Given the description of an element on the screen output the (x, y) to click on. 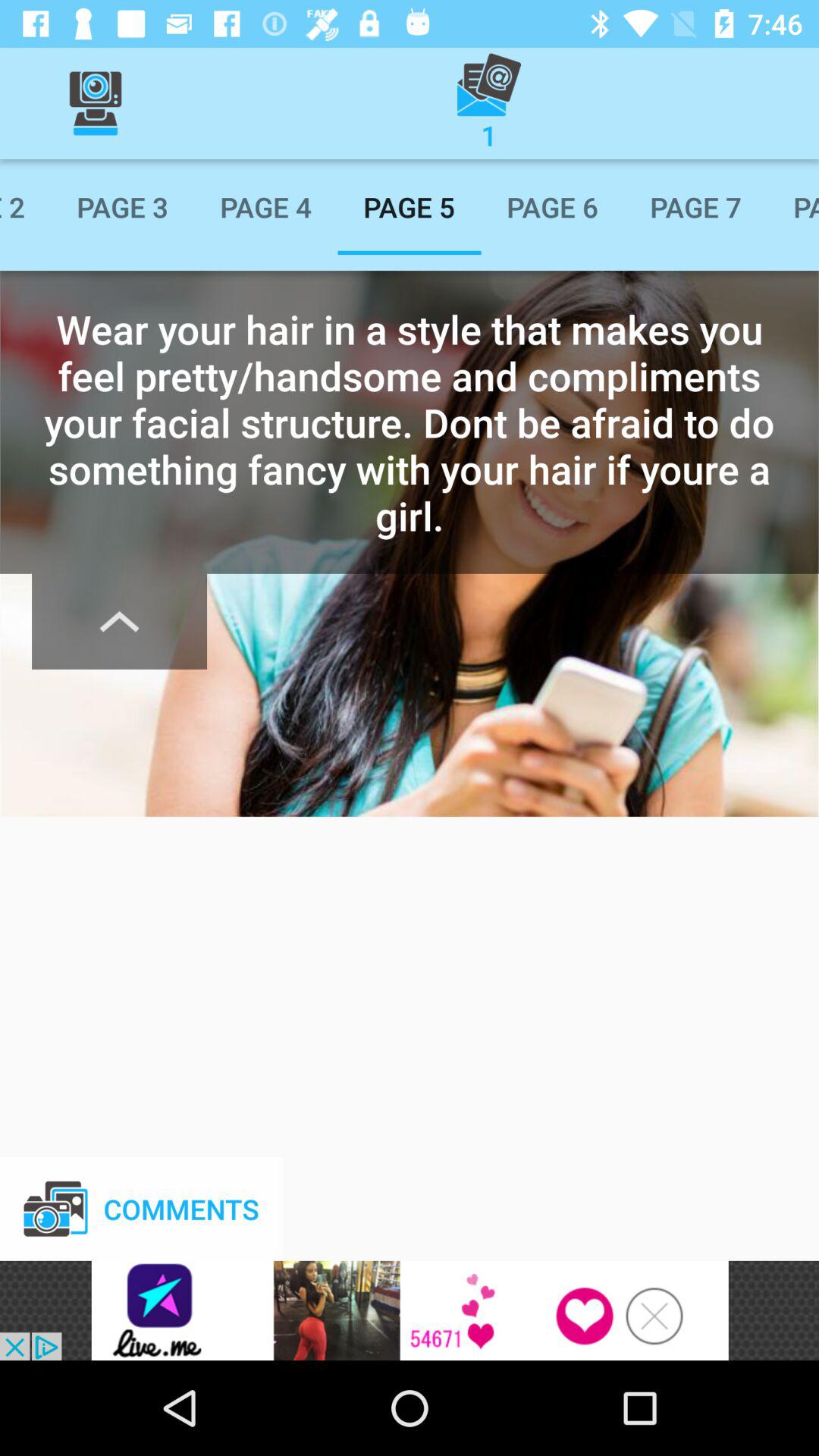
select the symbol which is above page 5 (488, 103)
click on icon which is above the comments (119, 621)
